Given the description of an element on the screen output the (x, y) to click on. 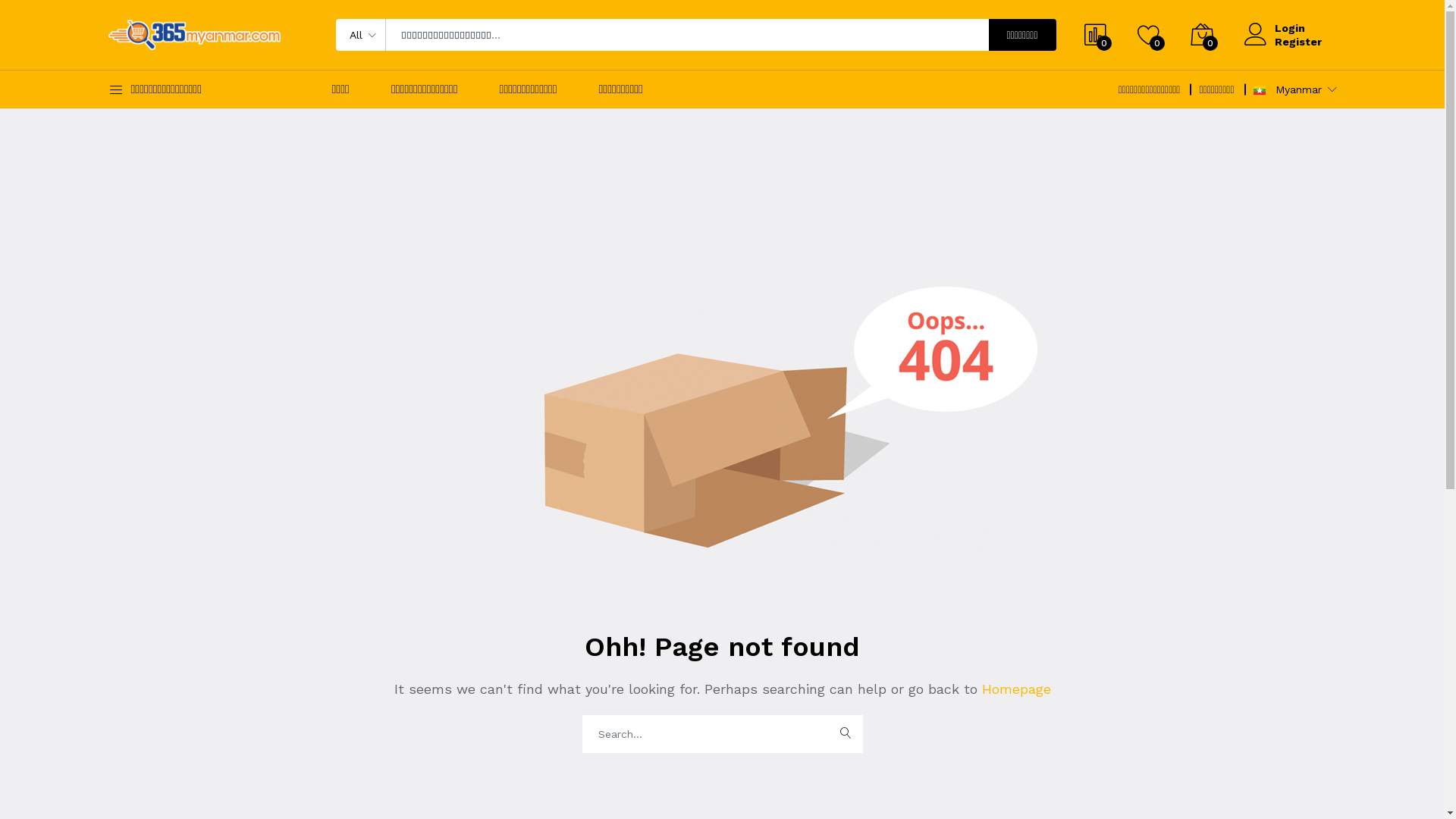
0 Element type: text (1201, 34)
Myanmar Element type: hover (1258, 89)
Homepage Element type: text (1013, 688)
0 Element type: text (1148, 34)
Login Element type: text (1297, 27)
Register Element type: text (1297, 41)
0 Element type: text (1095, 34)
